Given the description of an element on the screen output the (x, y) to click on. 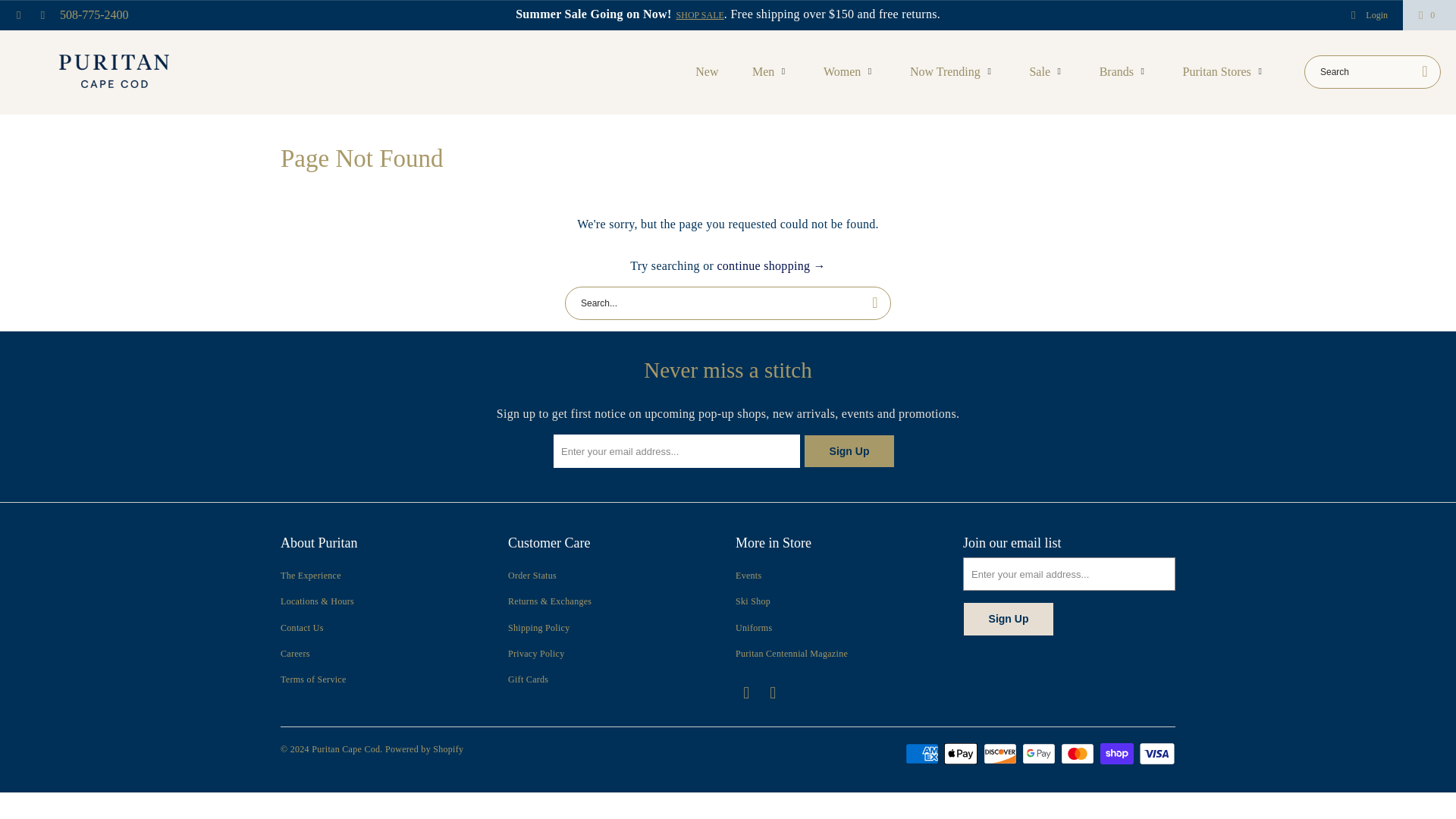
Visa (1156, 753)
Shop Pay (1118, 753)
Google Pay (1040, 753)
Discover (1002, 753)
Sign Up (849, 450)
Apple Pay (961, 753)
Mastercard (1079, 753)
American Express (923, 753)
Sign Up (1008, 618)
